Given the description of an element on the screen output the (x, y) to click on. 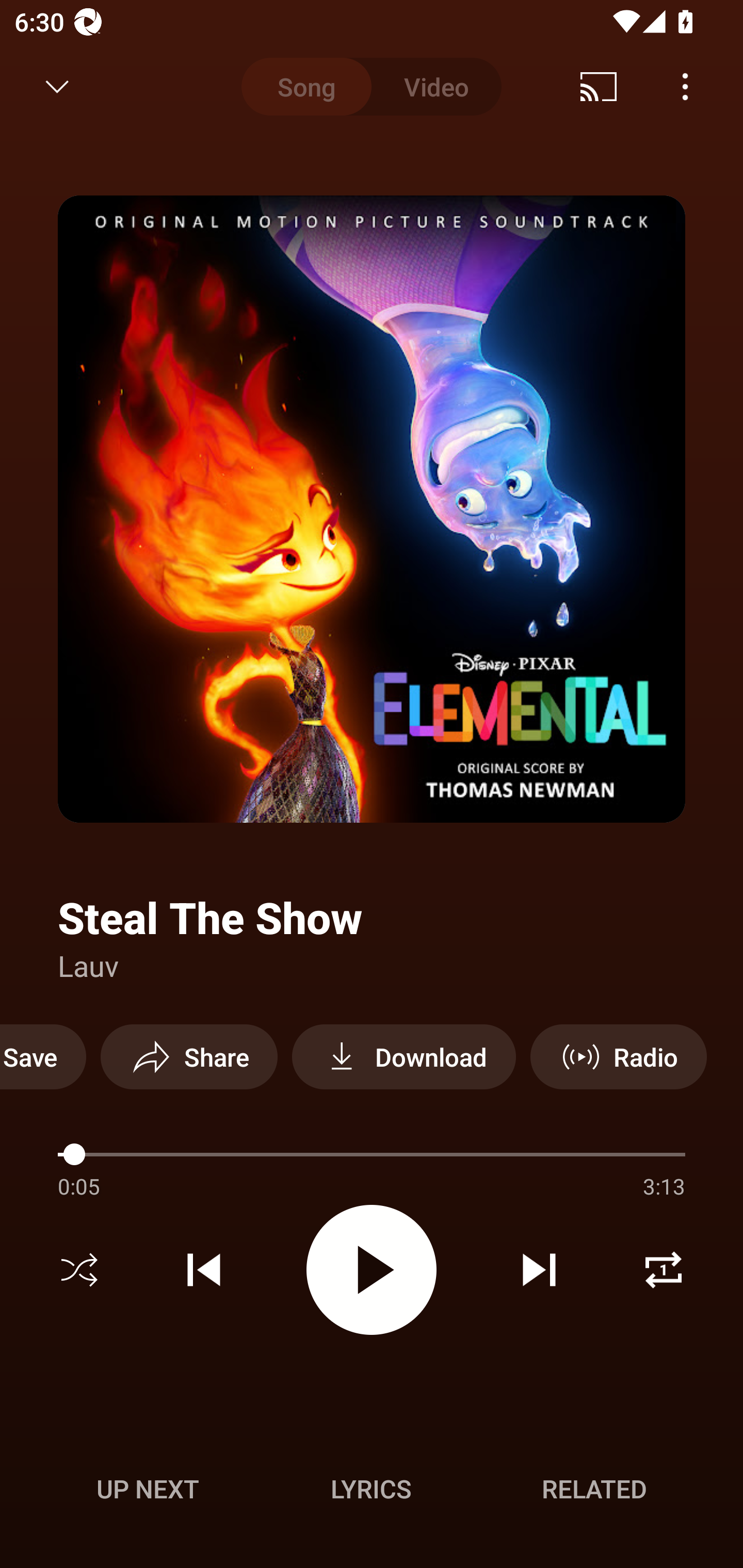
Minimize (57, 86)
Cast. Disconnected (598, 86)
Menu (684, 86)
Save Save to playlist (43, 1056)
Share (188, 1056)
Download (403, 1056)
Radio (618, 1056)
Play video (371, 1269)
Shuffle off (79, 1269)
Previous track (203, 1269)
Next track (538, 1269)
Repeat one (663, 1269)
Up next UP NEXT Lyrics LYRICS Related RELATED (371, 1491)
Lyrics LYRICS (370, 1488)
Related RELATED (594, 1488)
